Given the description of an element on the screen output the (x, y) to click on. 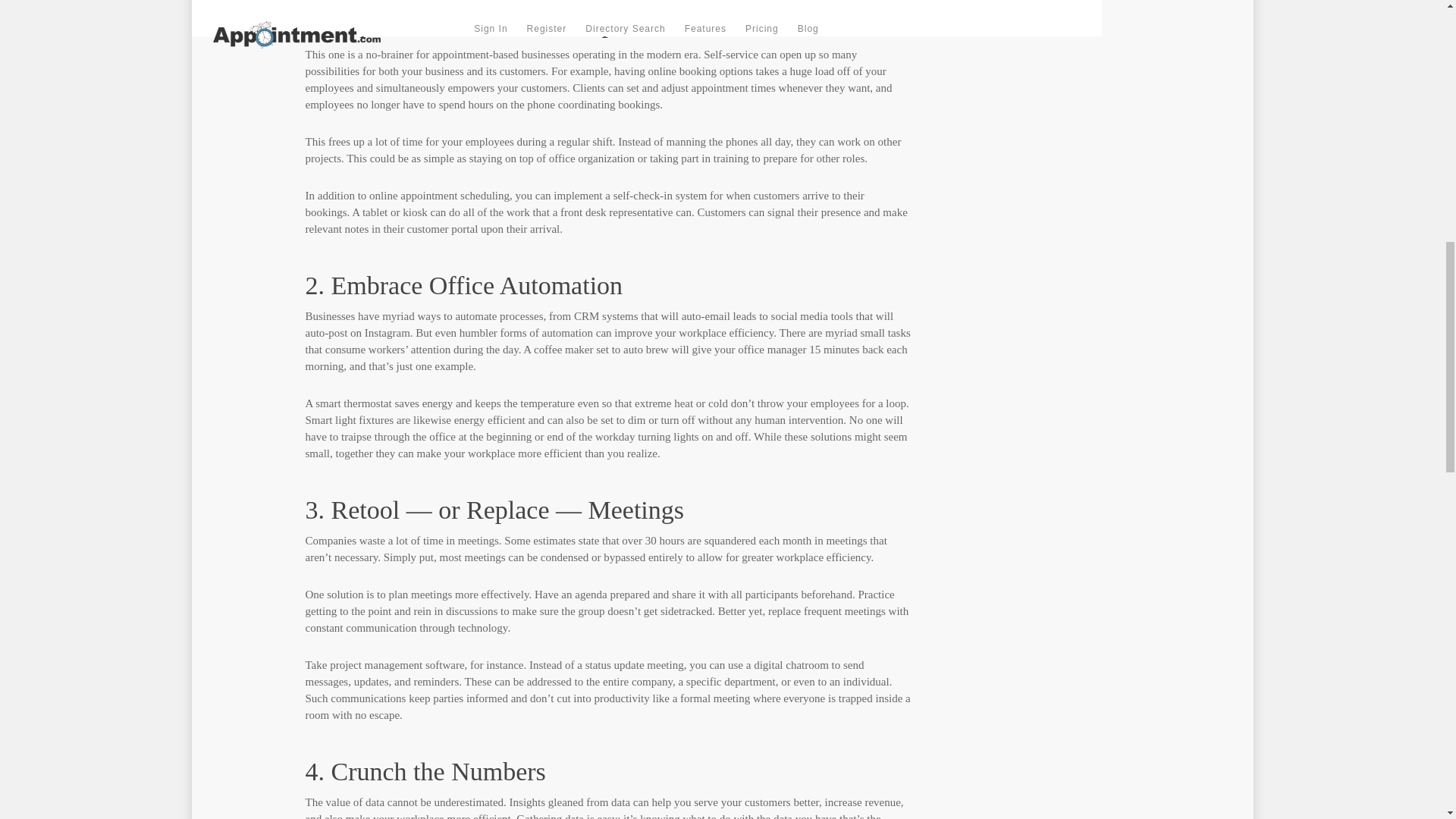
improve (633, 332)
value of data (355, 802)
Self-service (730, 54)
over 30 hours (652, 540)
